Given the description of an element on the screen output the (x, y) to click on. 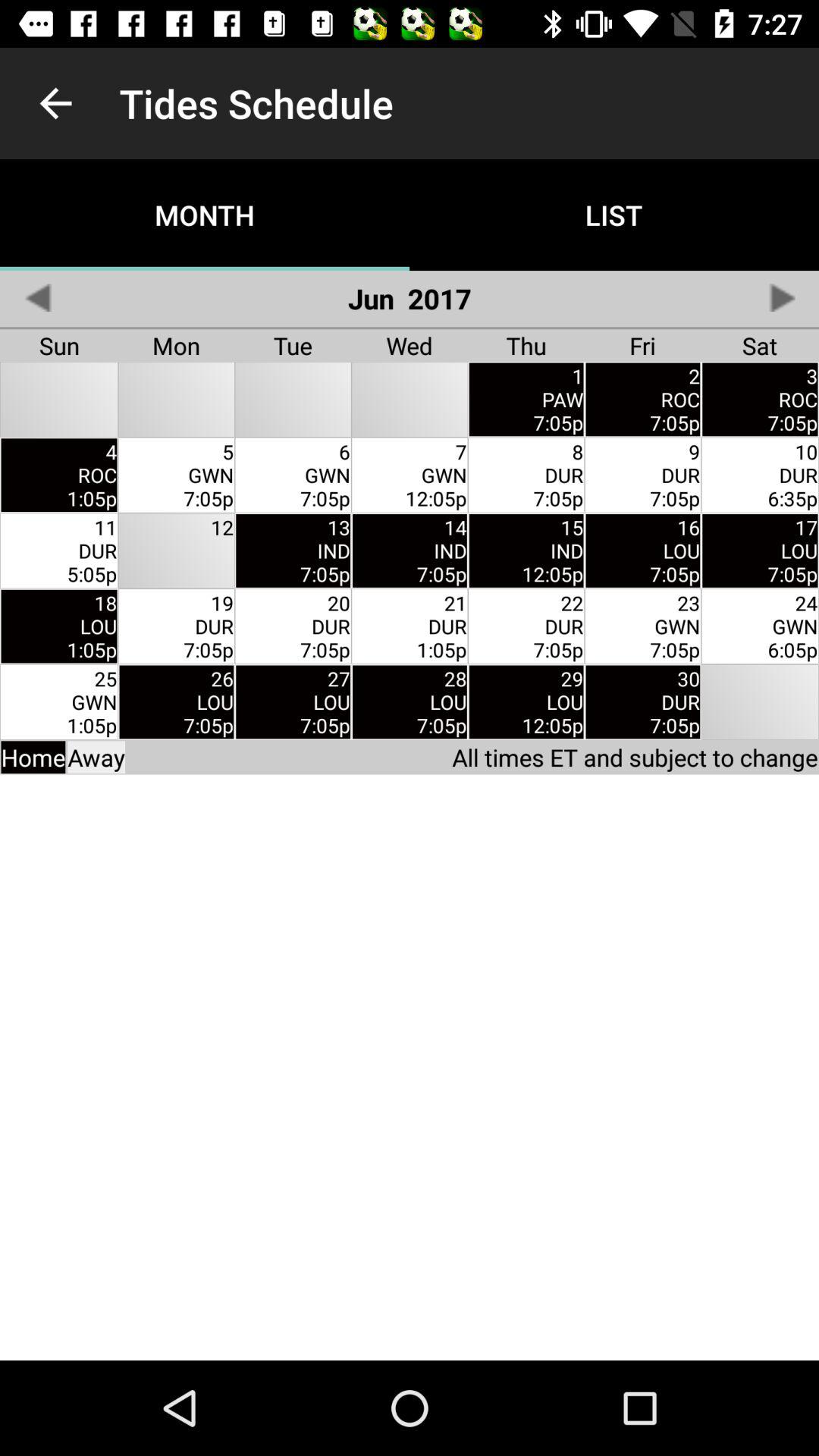
turn on item to the right of list app (781, 297)
